Given the description of an element on the screen output the (x, y) to click on. 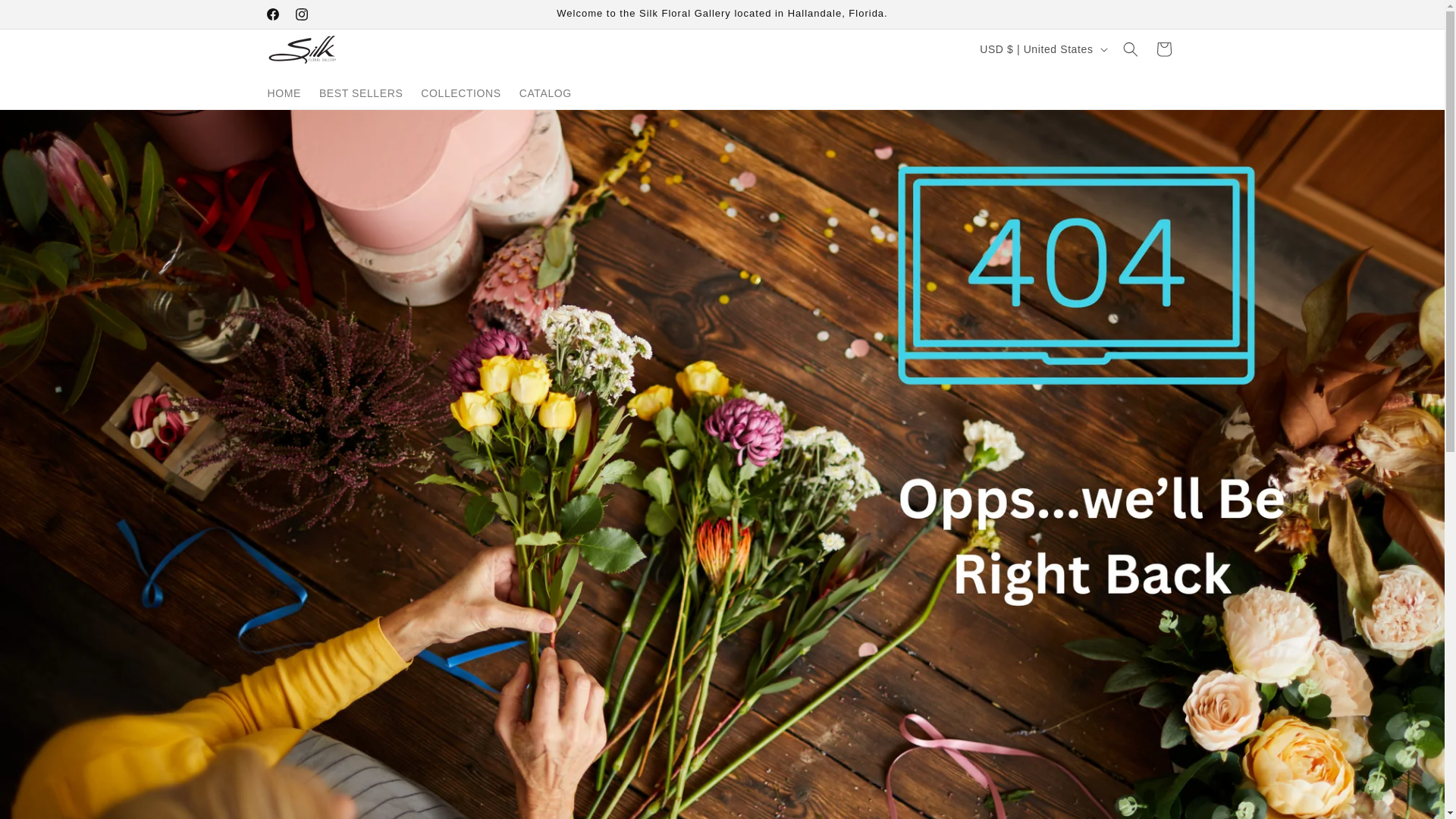
CATALOG (545, 92)
HOME (282, 92)
Cart (46, 18)
Instagram (1163, 49)
Facebook (300, 14)
COLLECTIONS (271, 14)
BEST SELLERS (460, 92)
